Given the description of an element on the screen output the (x, y) to click on. 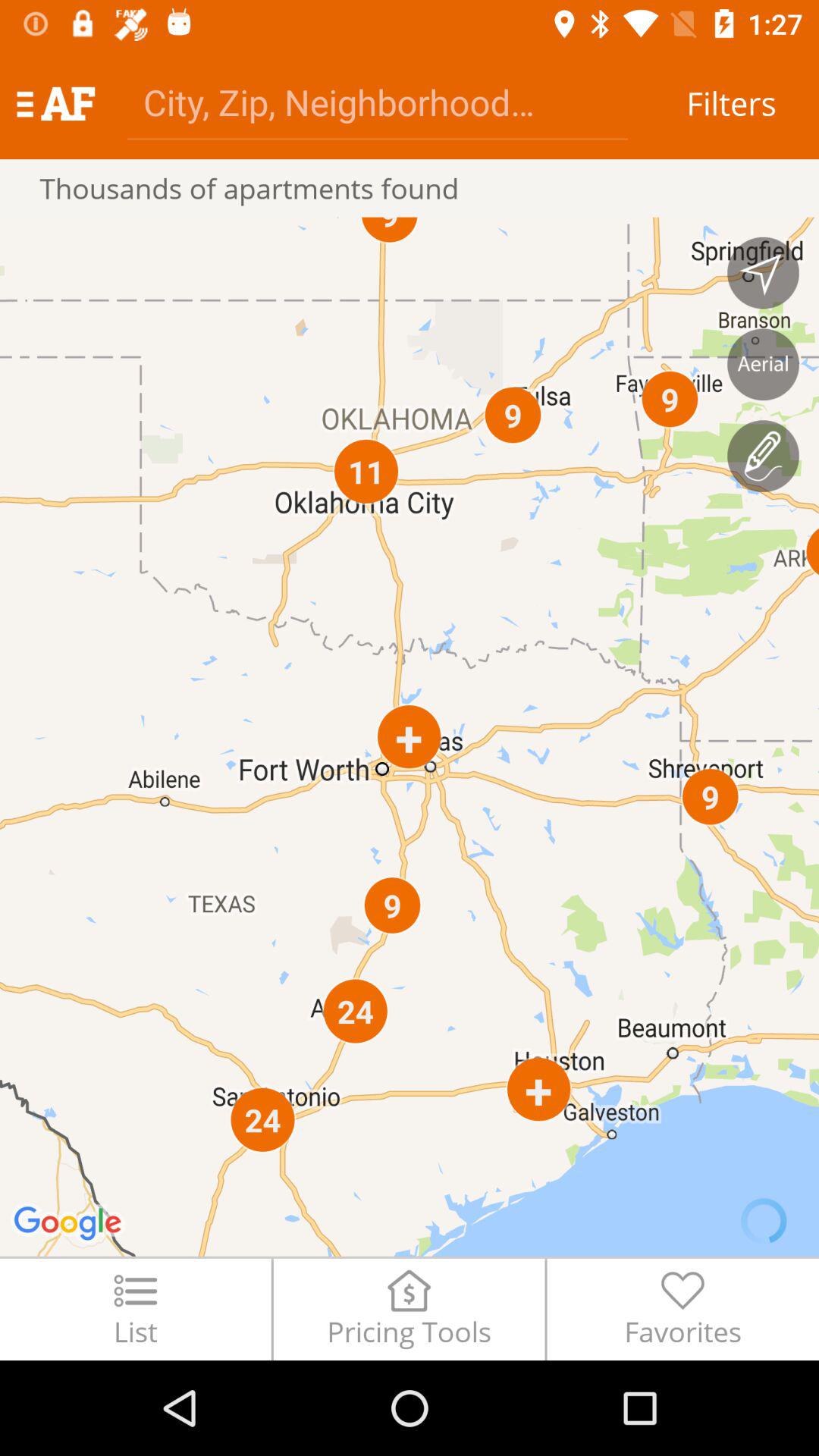
choose the icon to the left of favorites icon (408, 1309)
